Given the description of an element on the screen output the (x, y) to click on. 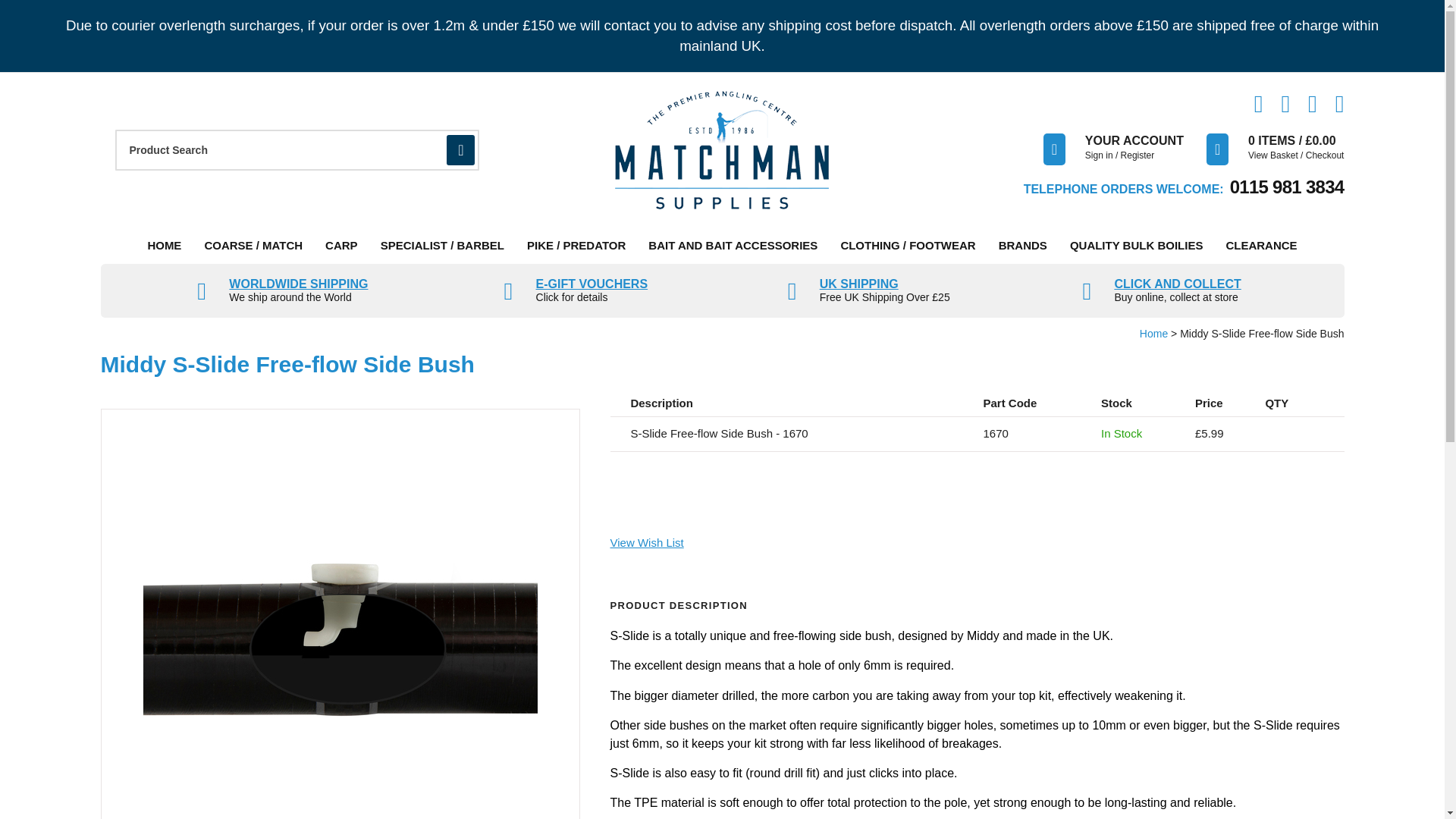
HOME (163, 245)
CARP (341, 245)
0115 981 3834 (1286, 186)
GO (460, 150)
